Given the description of an element on the screen output the (x, y) to click on. 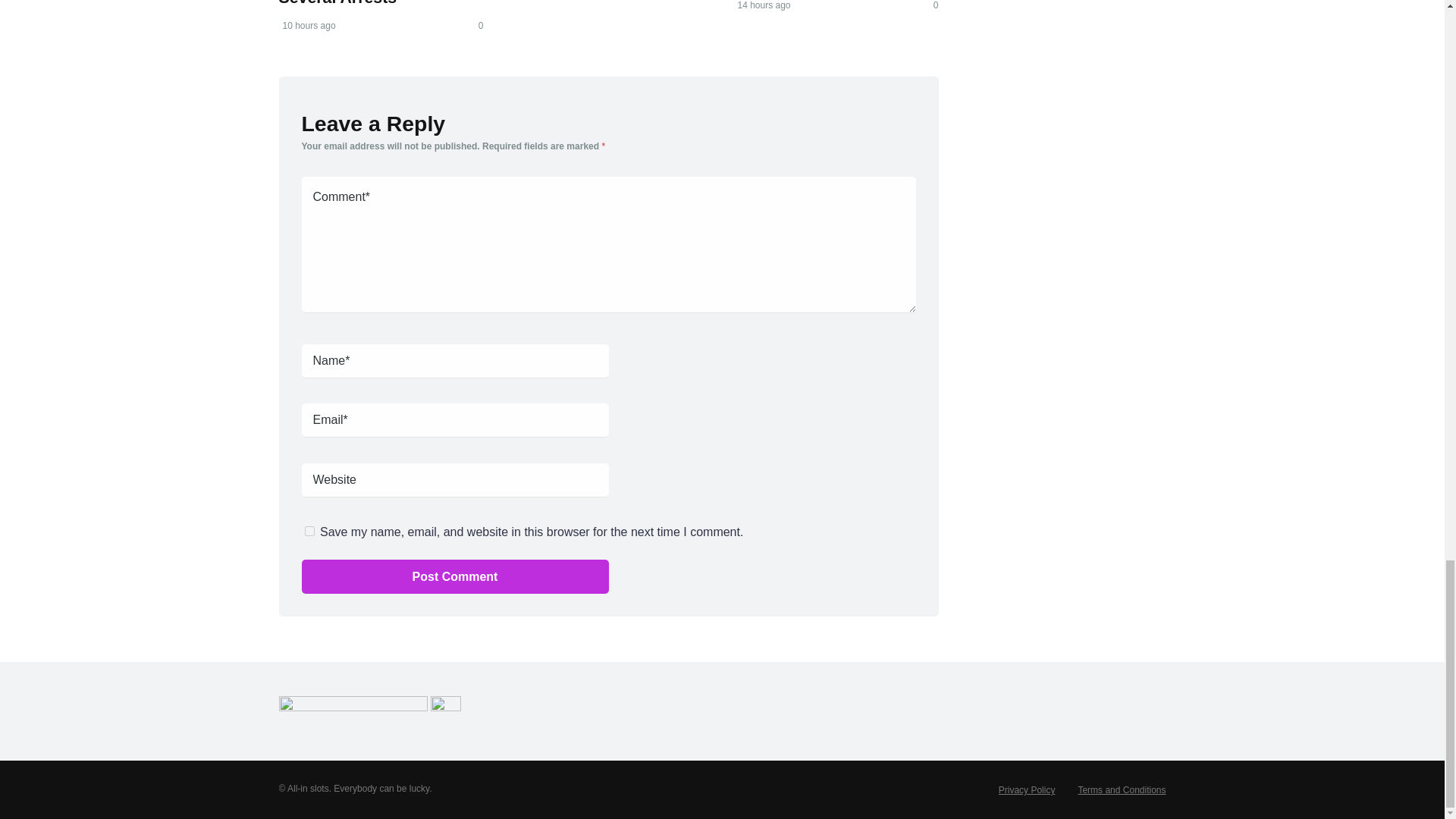
yes (309, 531)
Post Comment (454, 576)
